Given the description of an element on the screen output the (x, y) to click on. 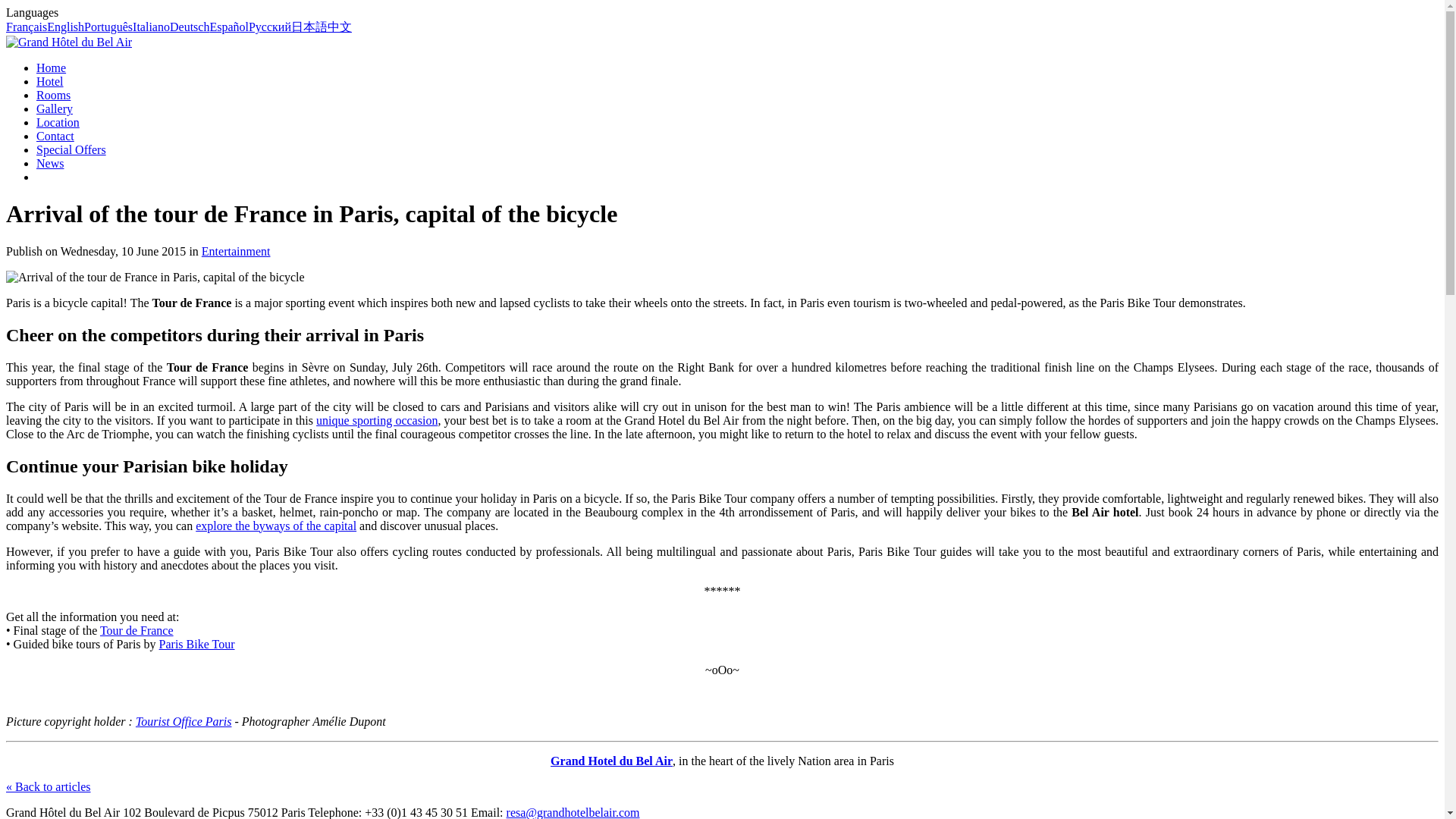
Rooms (52, 94)
Official website of the Convention and Visitors Bureau (183, 720)
Tourist Office Paris (183, 720)
unique sporting occasion (376, 420)
Paris Bike Tour (196, 643)
explore the byways of the capital (275, 524)
Tour de France (136, 629)
Location (58, 122)
Contact (55, 135)
Hotel (50, 81)
